Given the description of an element on the screen output the (x, y) to click on. 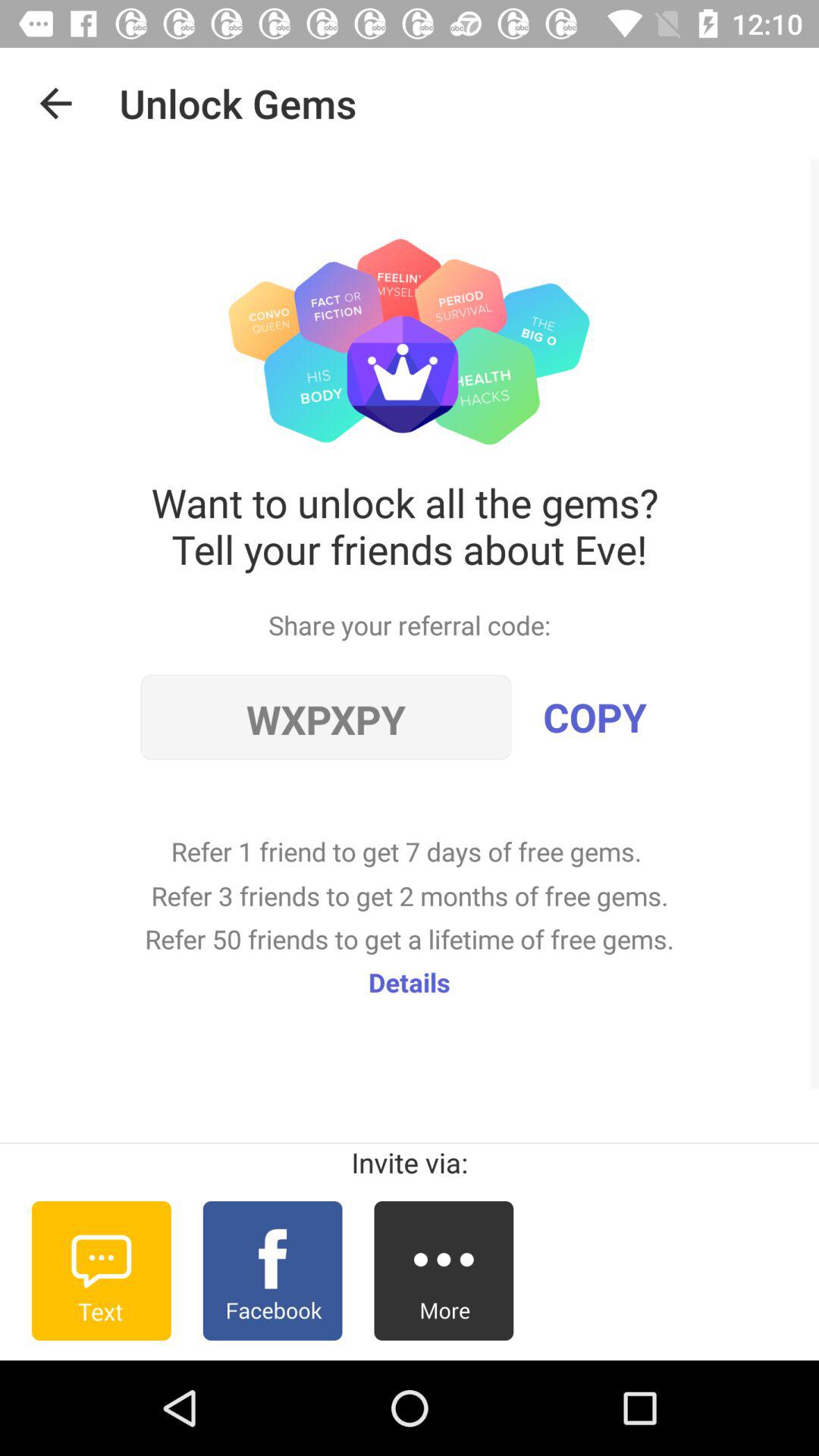
the icon represented to goto previous option or previou menu (55, 103)
